Given the description of an element on the screen output the (x, y) to click on. 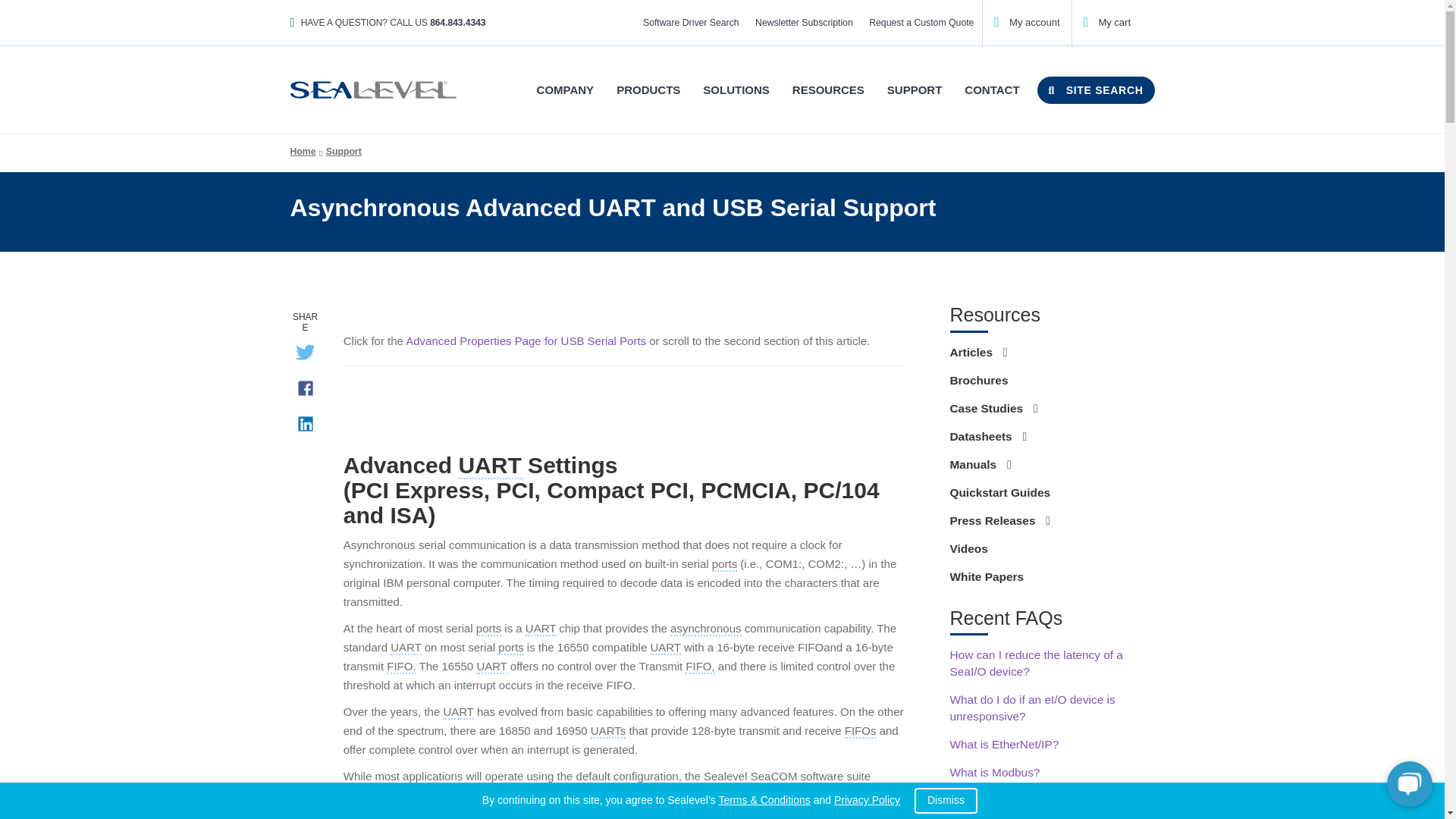
864.843.4343 (456, 22)
My account (1026, 21)
Request a Custom Quote (920, 22)
COMPANY (565, 89)
My cart (1106, 21)
Software Driver Search (690, 22)
PRODUCTS (648, 89)
Newsletter Subscription (803, 22)
SOLUTIONS (735, 89)
